Given the description of an element on the screen output the (x, y) to click on. 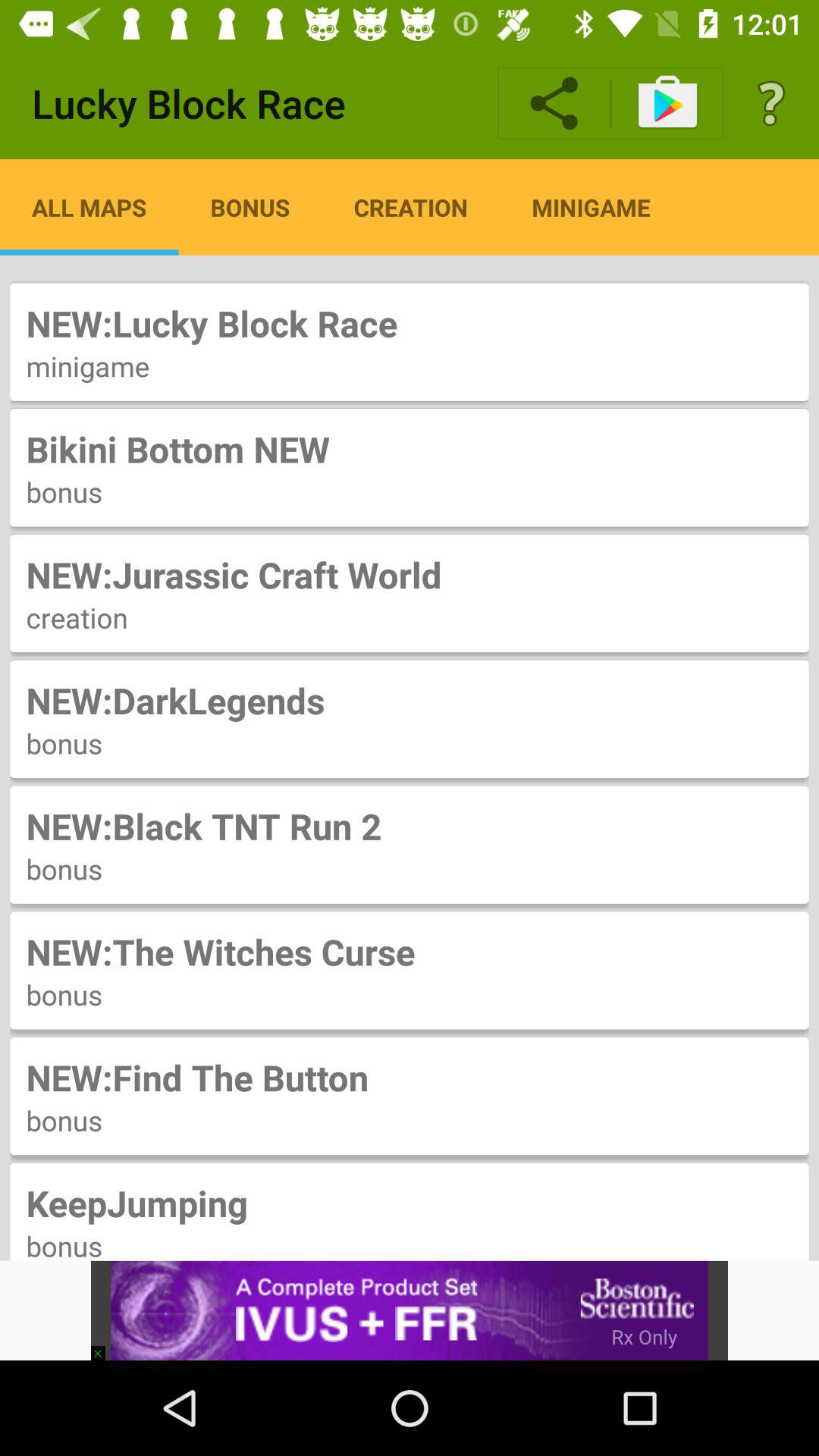
press the item below the minigame item (409, 448)
